Given the description of an element on the screen output the (x, y) to click on. 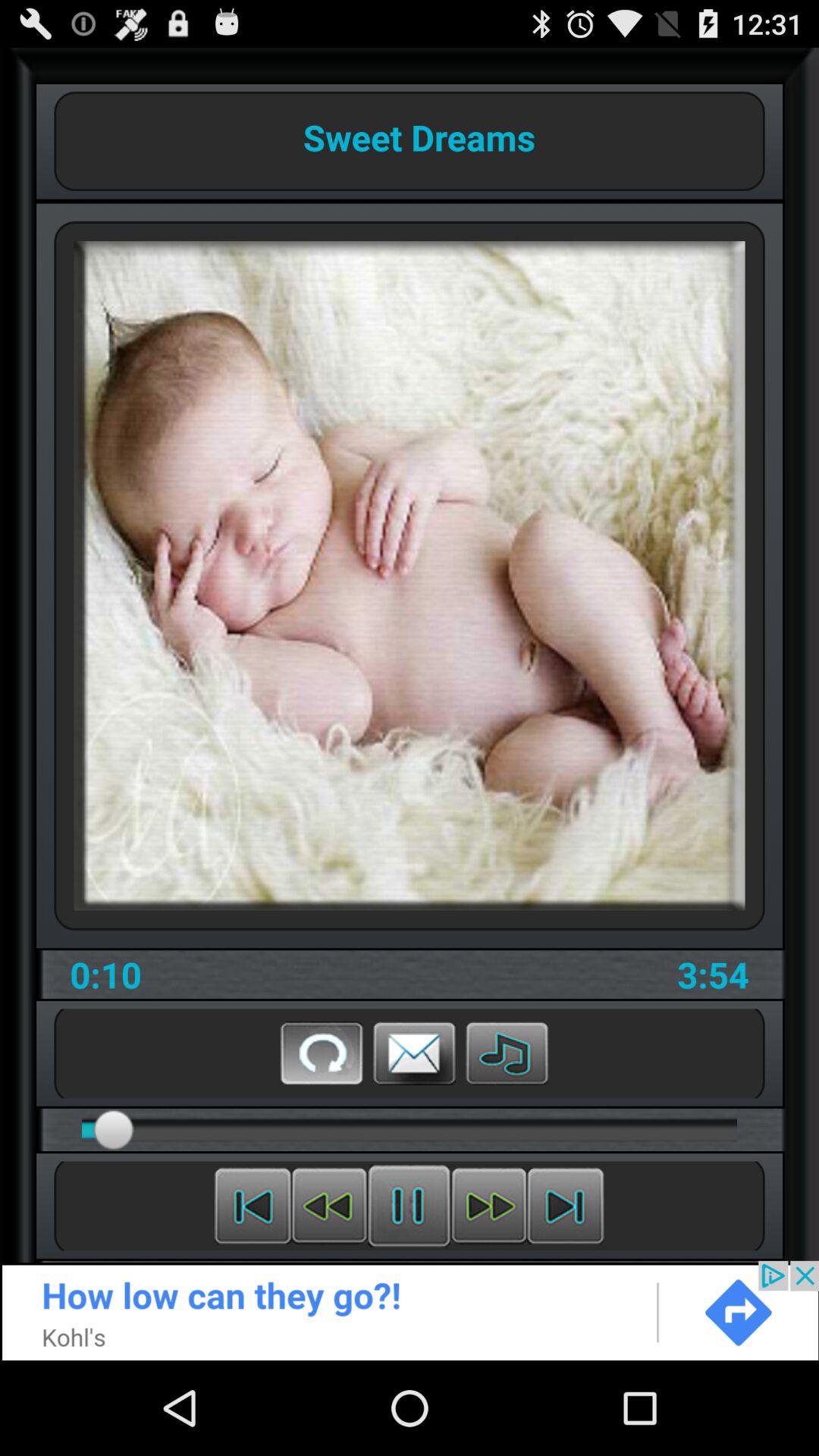
play previous option (329, 1205)
